Given the description of an element on the screen output the (x, y) to click on. 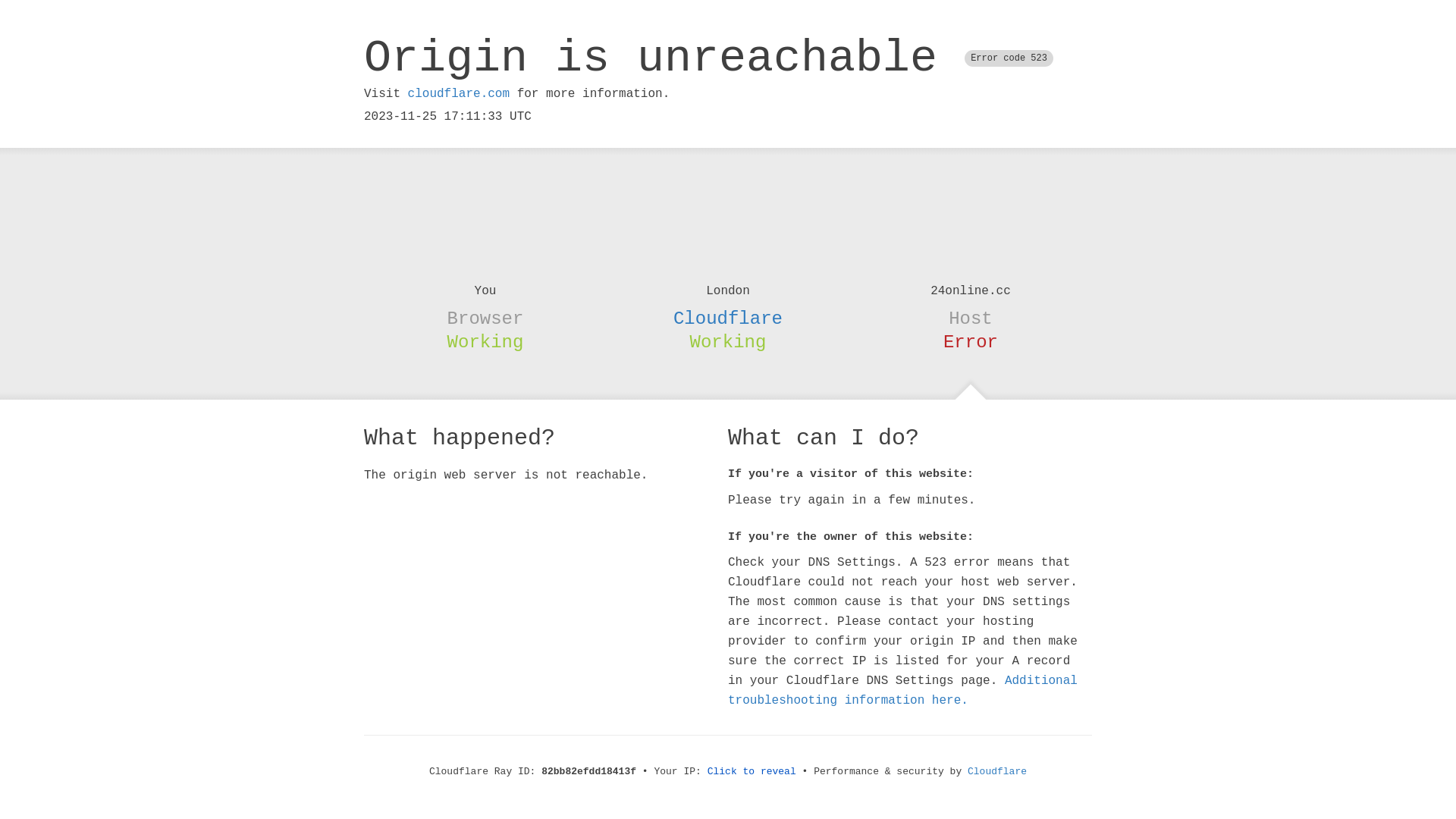
Cloudflare Element type: text (727, 318)
Click to reveal Element type: text (751, 771)
Cloudflare Element type: text (996, 771)
cloudflare.com Element type: text (458, 93)
Additional troubleshooting information here. Element type: text (902, 690)
